Given the description of an element on the screen output the (x, y) to click on. 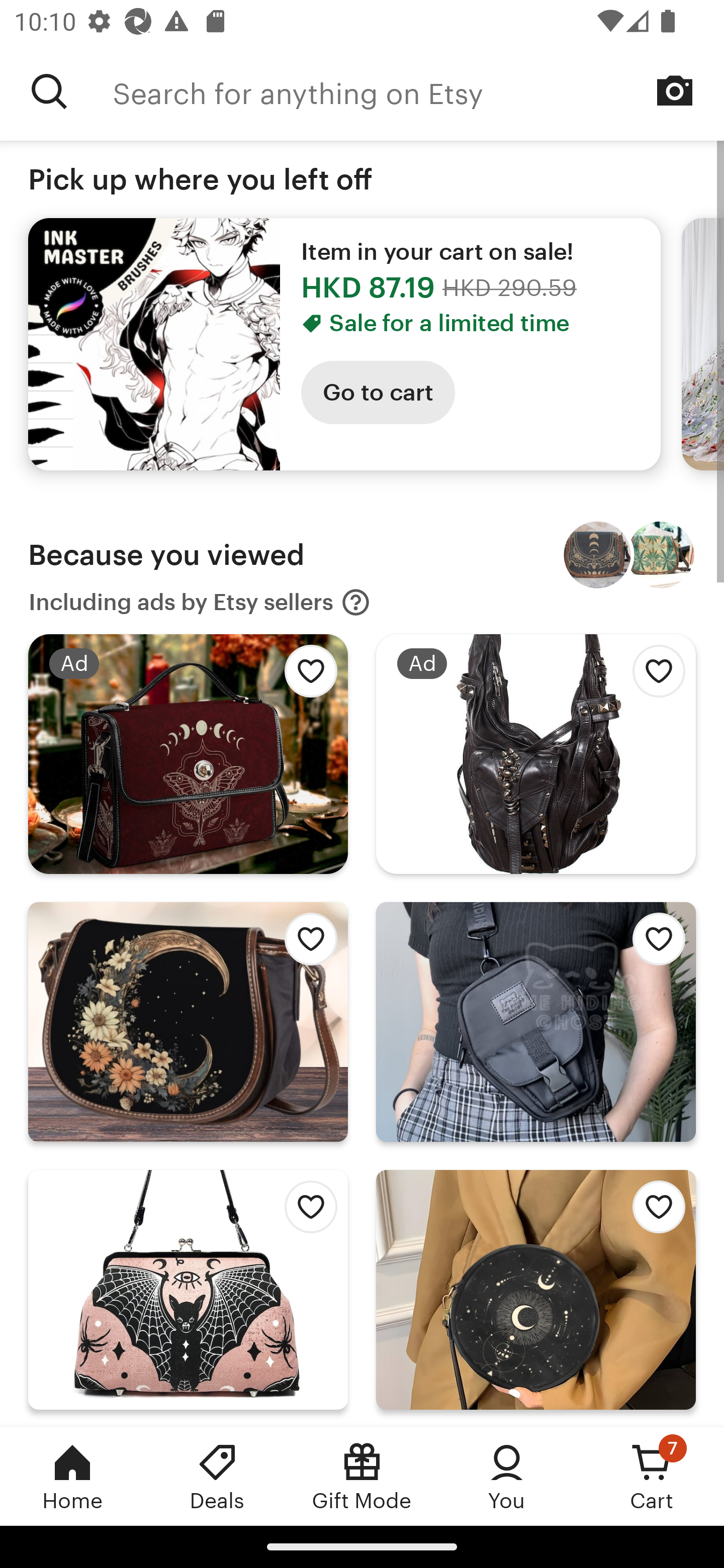
Search for anything on Etsy (49, 91)
Search by image (674, 90)
Search for anything on Etsy (418, 91)
Including ads by Etsy sellers (199, 601)
Deals (216, 1475)
Gift Mode (361, 1475)
You (506, 1475)
Cart, 7 new notifications Cart (651, 1475)
